Given the description of an element on the screen output the (x, y) to click on. 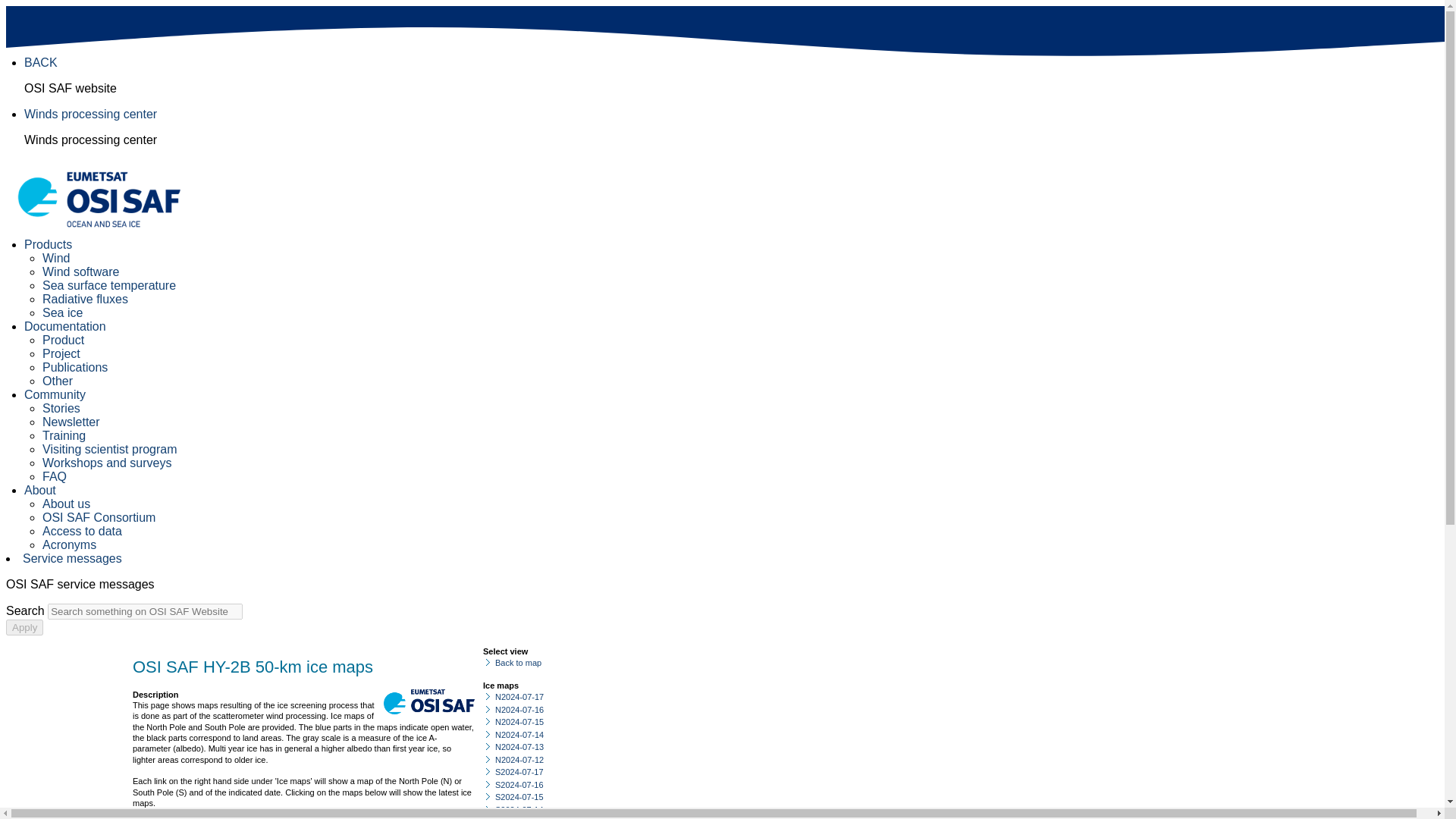
FAQ (54, 476)
Wind software (80, 271)
Radiative fluxes (85, 298)
Wind (55, 257)
N2024-07-14 (519, 734)
N2024-07-16 (519, 709)
Service messages (72, 558)
BACK (41, 62)
Community (54, 394)
N2024-07-17 (519, 696)
Project (61, 353)
Ocean and Sea Ice SAF website (429, 701)
Sea surface temperature (109, 285)
Sea ice (62, 312)
Winds processing center (90, 113)
